Given the description of an element on the screen output the (x, y) to click on. 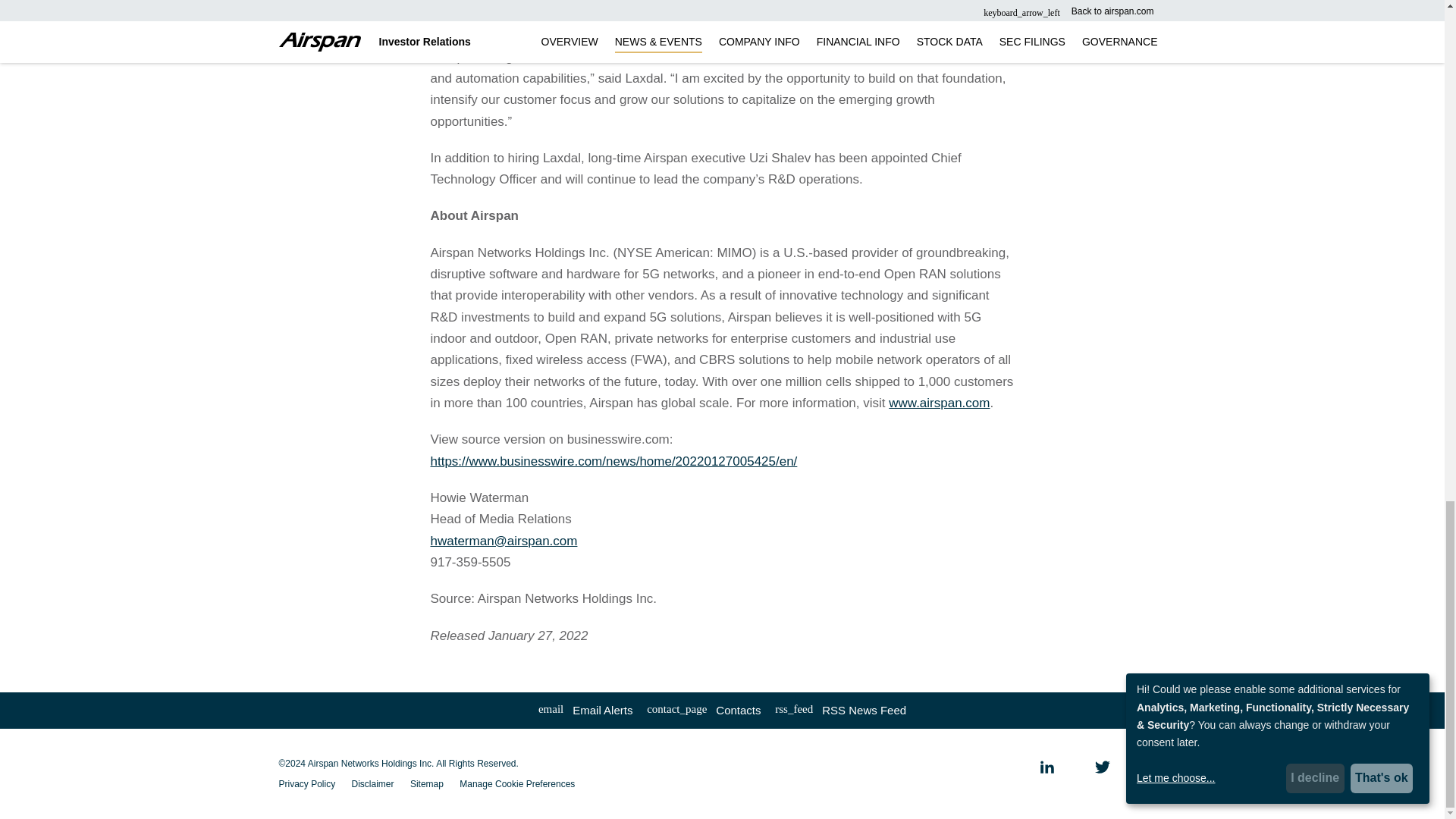
Opens in a new window (839, 709)
Opens in a new window (1101, 766)
Opens in a new window (1046, 766)
Opens in a new window (1158, 766)
